Given the description of an element on the screen output the (x, y) to click on. 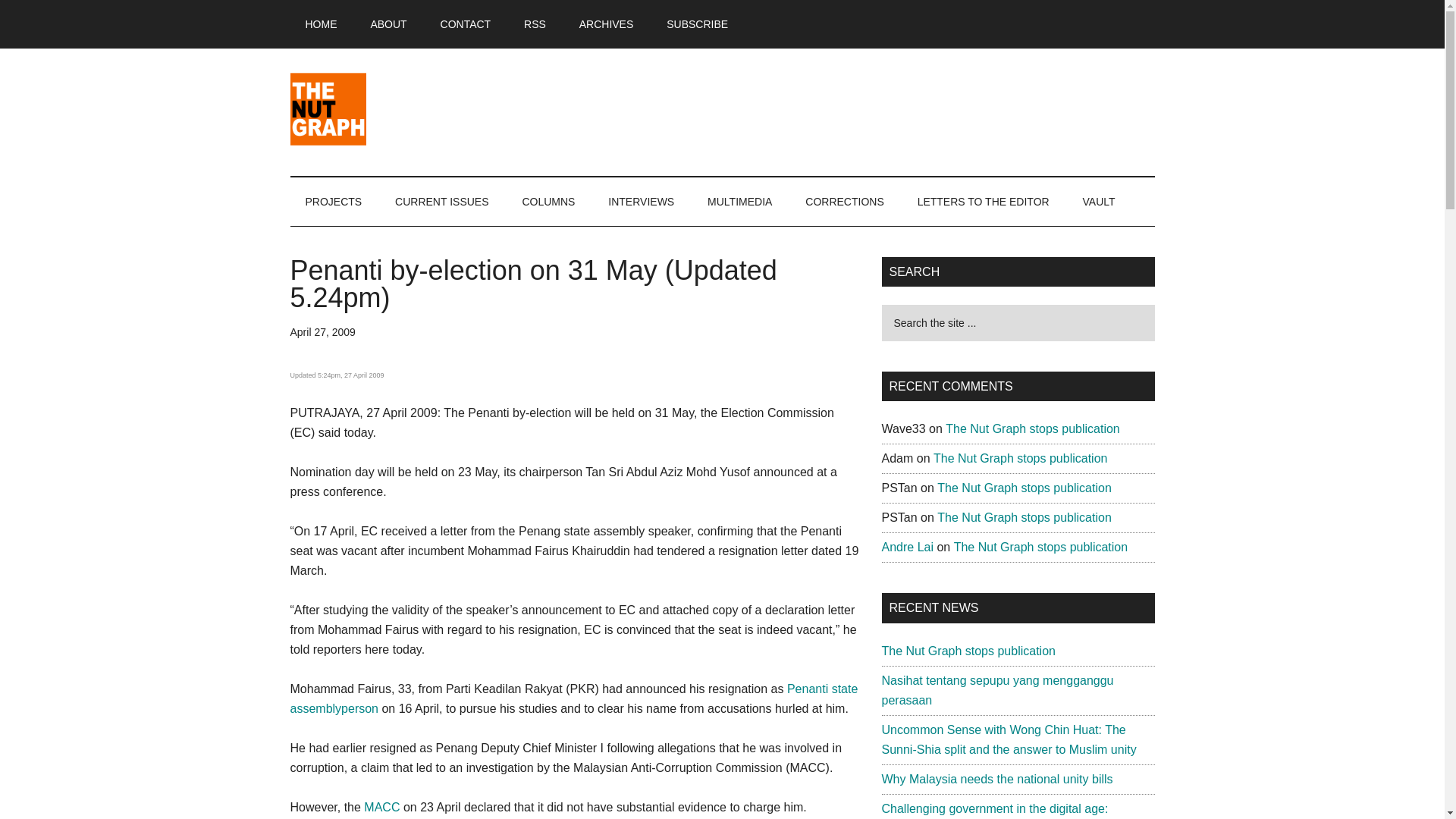
CORRECTIONS (844, 201)
CURRENT ISSUES (441, 201)
LETTERS TO THE EDITOR (983, 201)
RSS (534, 24)
HOME (320, 24)
ARCHIVES (606, 24)
COLUMNS (547, 201)
MACC (381, 807)
INTERVIEWS (640, 201)
Penanti state assemblyperson (573, 698)
SUBSCRIBE (696, 24)
CONTACT (465, 24)
